Given the description of an element on the screen output the (x, y) to click on. 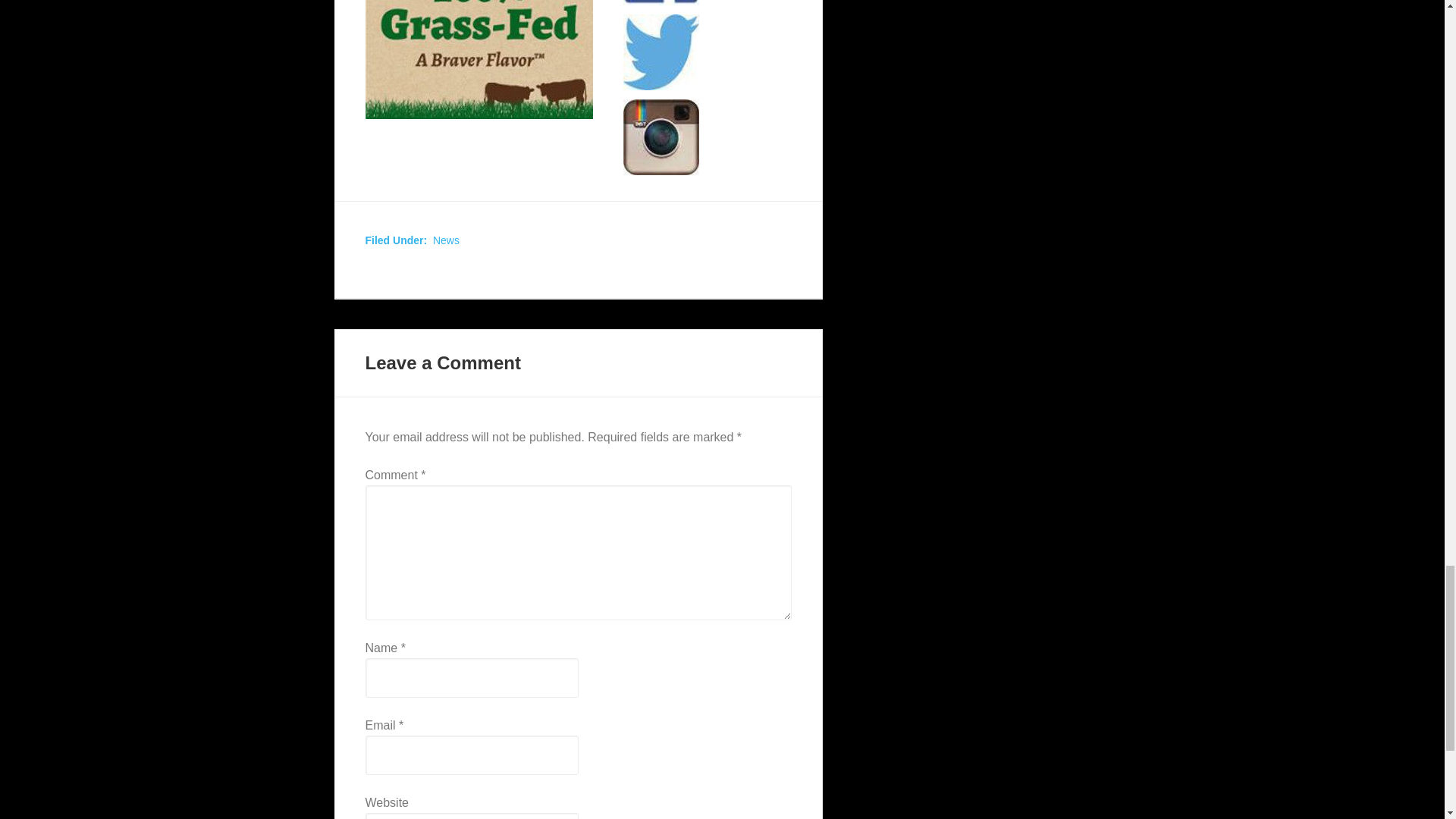
Lawless Jerky Twitter Page (660, 52)
Lawless Jerky Instagram Page (660, 137)
Lawless Jerky (478, 59)
Lawless Jerky Facebook Page (660, 2)
View all posts in News (446, 240)
